Given the description of an element on the screen output the (x, y) to click on. 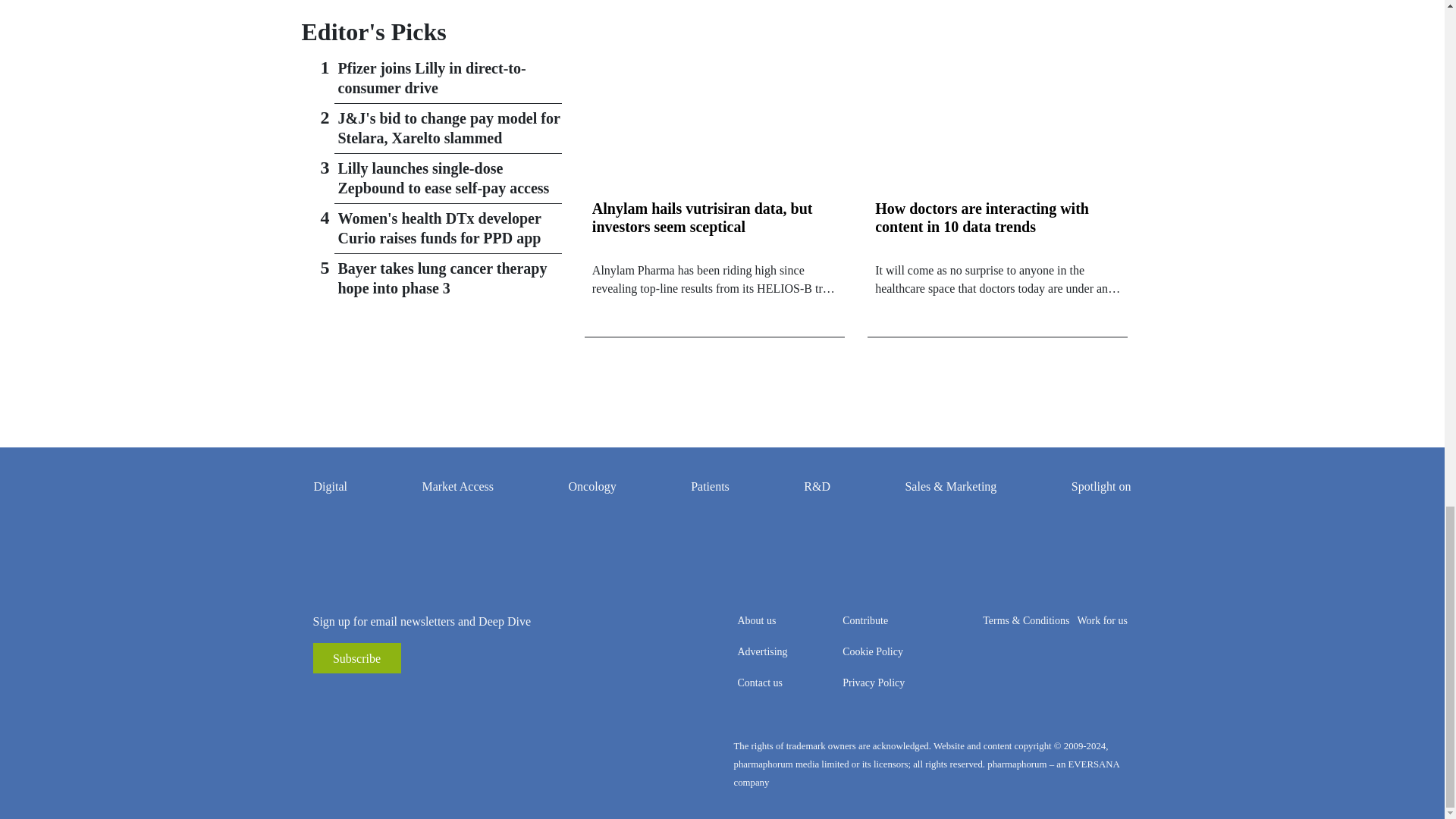
Pharmaphorum (430, 763)
 rss (324, 695)
linkedin (369, 695)
X (392, 695)
facebook (347, 695)
